Given the description of an element on the screen output the (x, y) to click on. 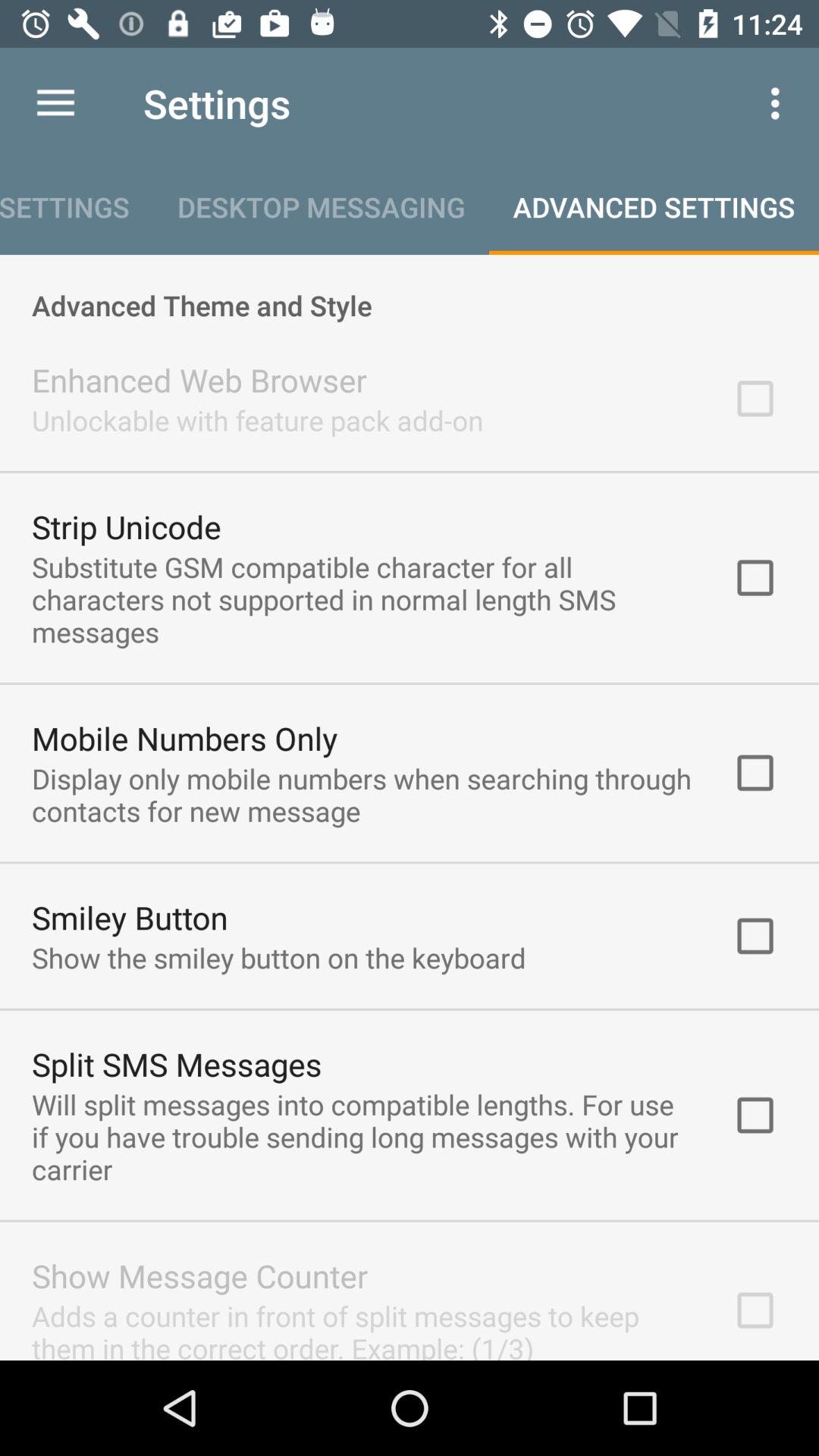
swipe until unlockable with feature item (257, 420)
